Given the description of an element on the screen output the (x, y) to click on. 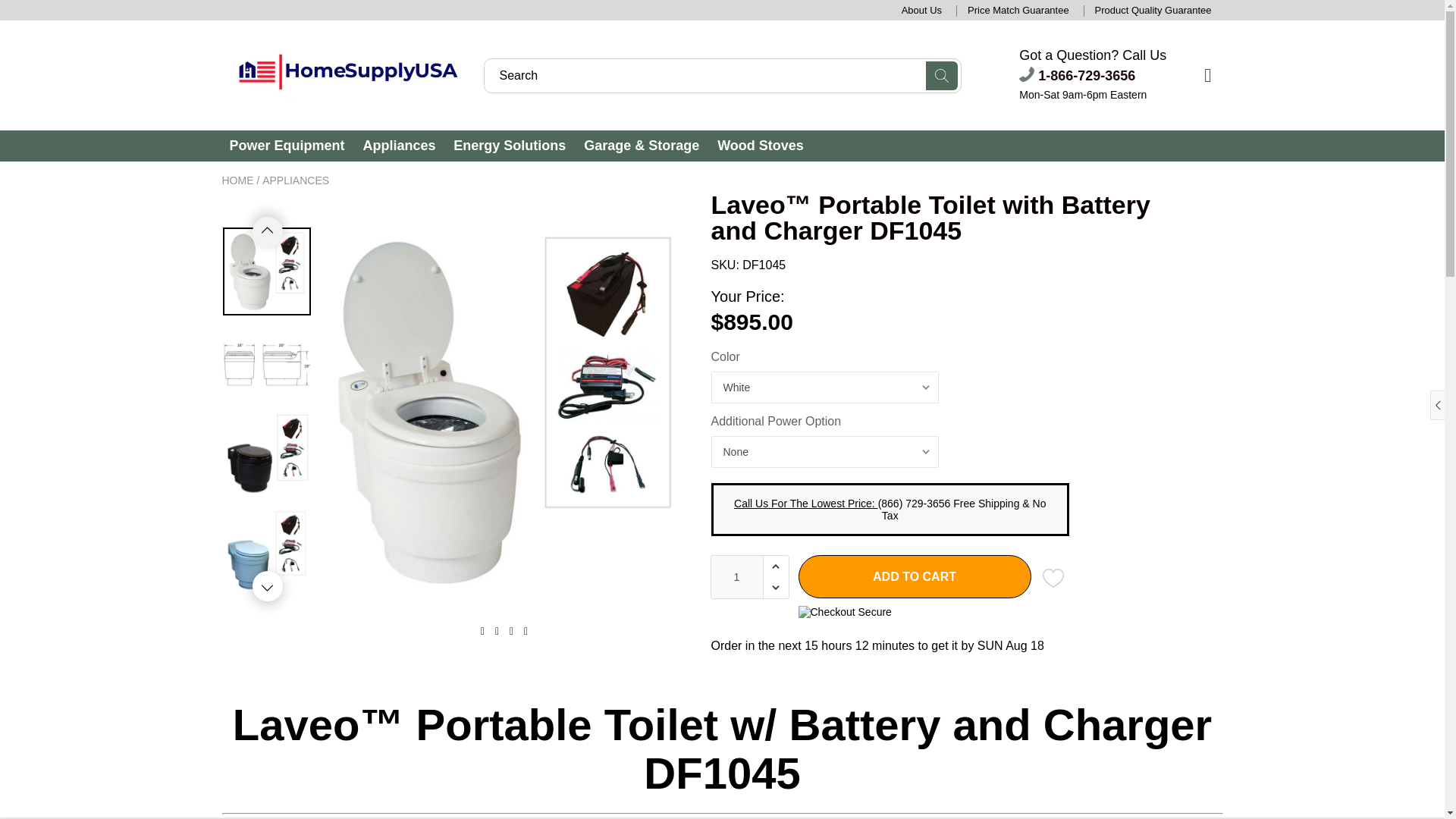
Price Match Guarantee (1018, 9)
Power Equipment (285, 145)
Wood Stoves (760, 145)
About Us (921, 9)
HOME (237, 180)
Back to the home page (237, 180)
Appliances (398, 145)
APPLIANCES (295, 180)
1-866-729-3656 (1077, 75)
1 (736, 576)
Energy Solutions (509, 145)
Product Quality Guarantee (1152, 9)
